Given the description of an element on the screen output the (x, y) to click on. 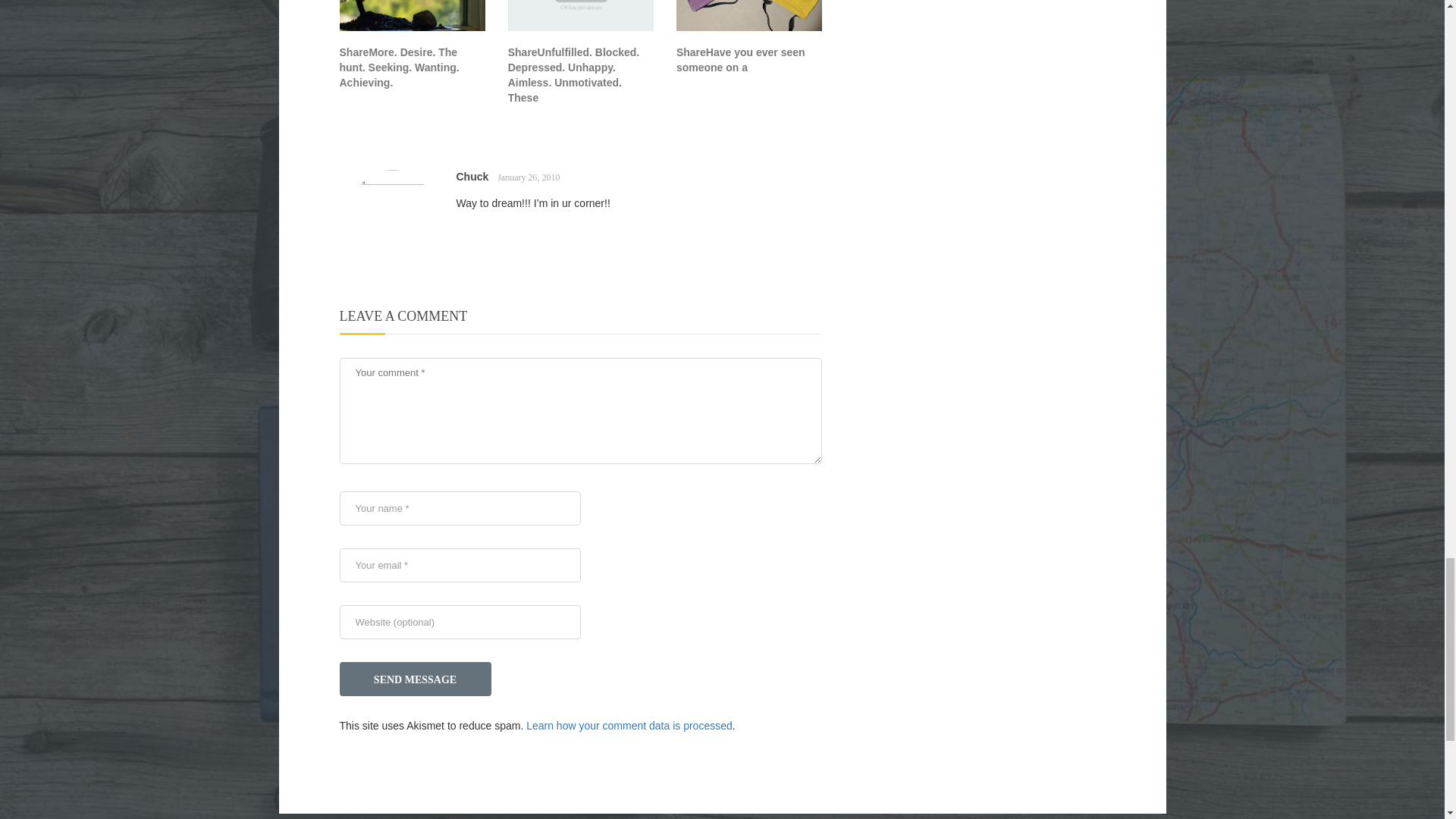
ShareHave you ever seen someone on a (741, 59)
SEND MESSAGE (415, 678)
Chuck (473, 176)
SEND MESSAGE (415, 678)
ShareMore. Desire. The hunt. Seeking. Wanting. Achieving. (399, 66)
